Given the description of an element on the screen output the (x, y) to click on. 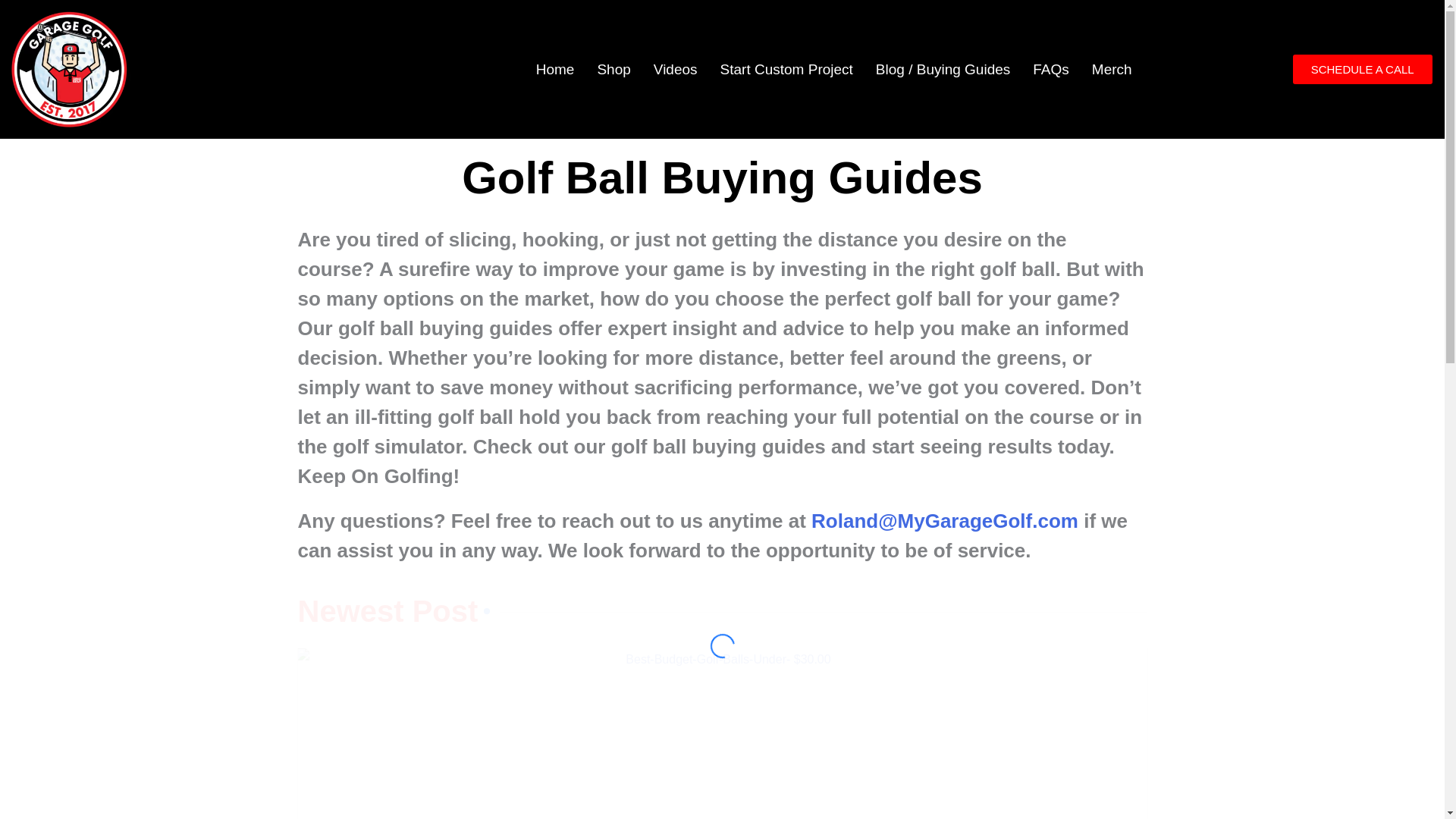
Home (555, 69)
Merch (1111, 69)
Videos (675, 69)
Garage Golf Email (944, 520)
Start Custom Project (786, 69)
Shop (613, 69)
SCHEDULE A CALL (1362, 69)
FAQs (1051, 69)
